Given the description of an element on the screen output the (x, y) to click on. 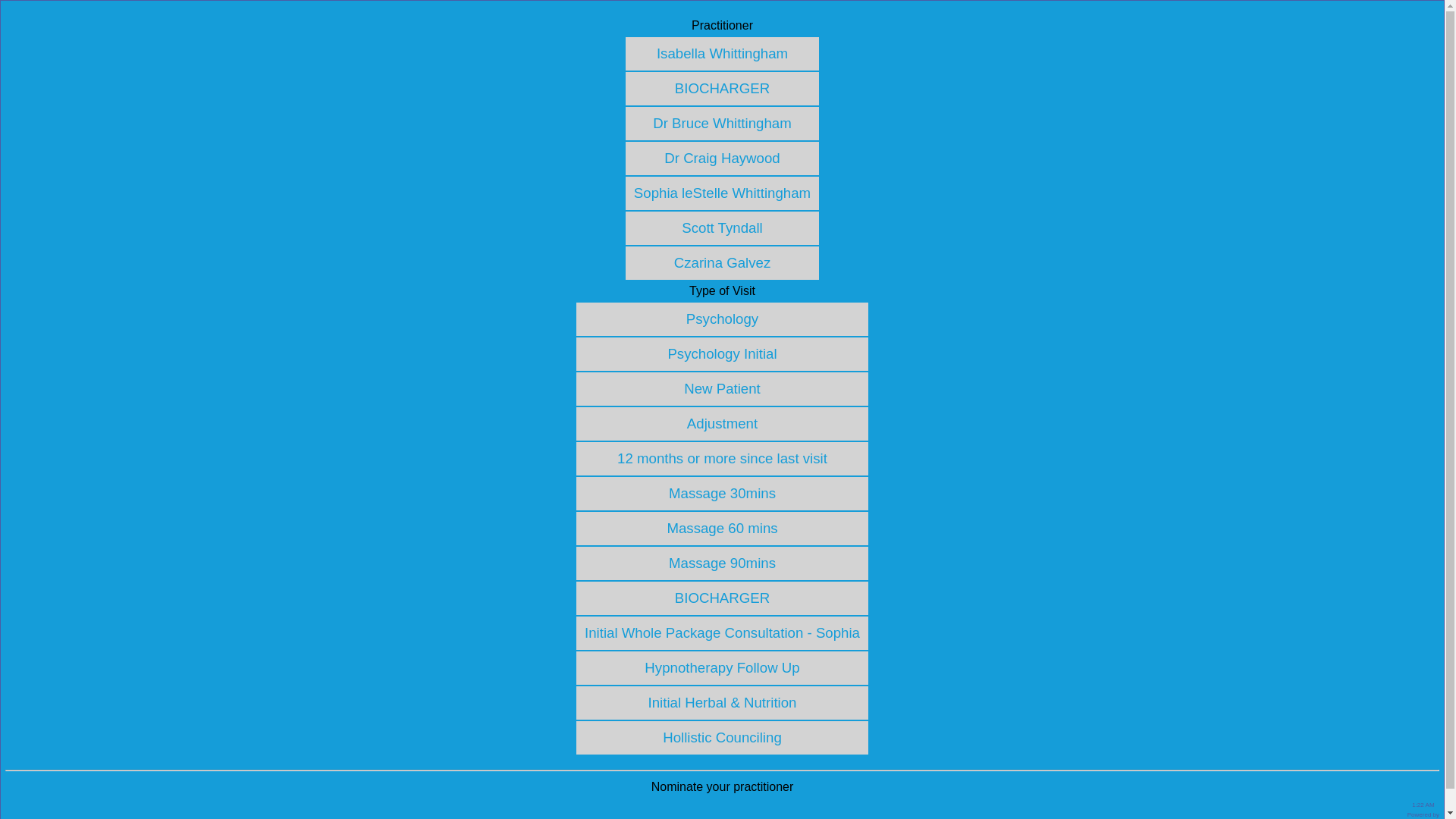
BIOCHARGER Element type: text (721, 88)
Sophia leStelle Whittingham Element type: text (721, 192)
BIOCHARGER Element type: text (721, 597)
Massage 30mins Element type: text (721, 493)
Czarina Galvez Element type: text (722, 262)
Massage 90mins Element type: text (721, 563)
Hypnotherapy Follow Up Element type: text (721, 667)
Initial Herbal & Nutrition Element type: text (721, 702)
Dr Craig Haywood Element type: text (721, 158)
Dr Bruce Whittingham Element type: text (721, 123)
Isabella Whittingham Element type: text (721, 53)
Massage 60 mins Element type: text (721, 528)
Hollistic Counciling Element type: text (721, 737)
New Patient Element type: text (722, 388)
Psychology Element type: text (722, 318)
Initial Whole Package Consultation - Sophia Element type: text (721, 632)
Psychology Initial Element type: text (721, 353)
Adjustment Element type: text (722, 423)
12 months or more since last visit Element type: text (722, 458)
Scott Tyndall Element type: text (721, 227)
